Given the description of an element on the screen output the (x, y) to click on. 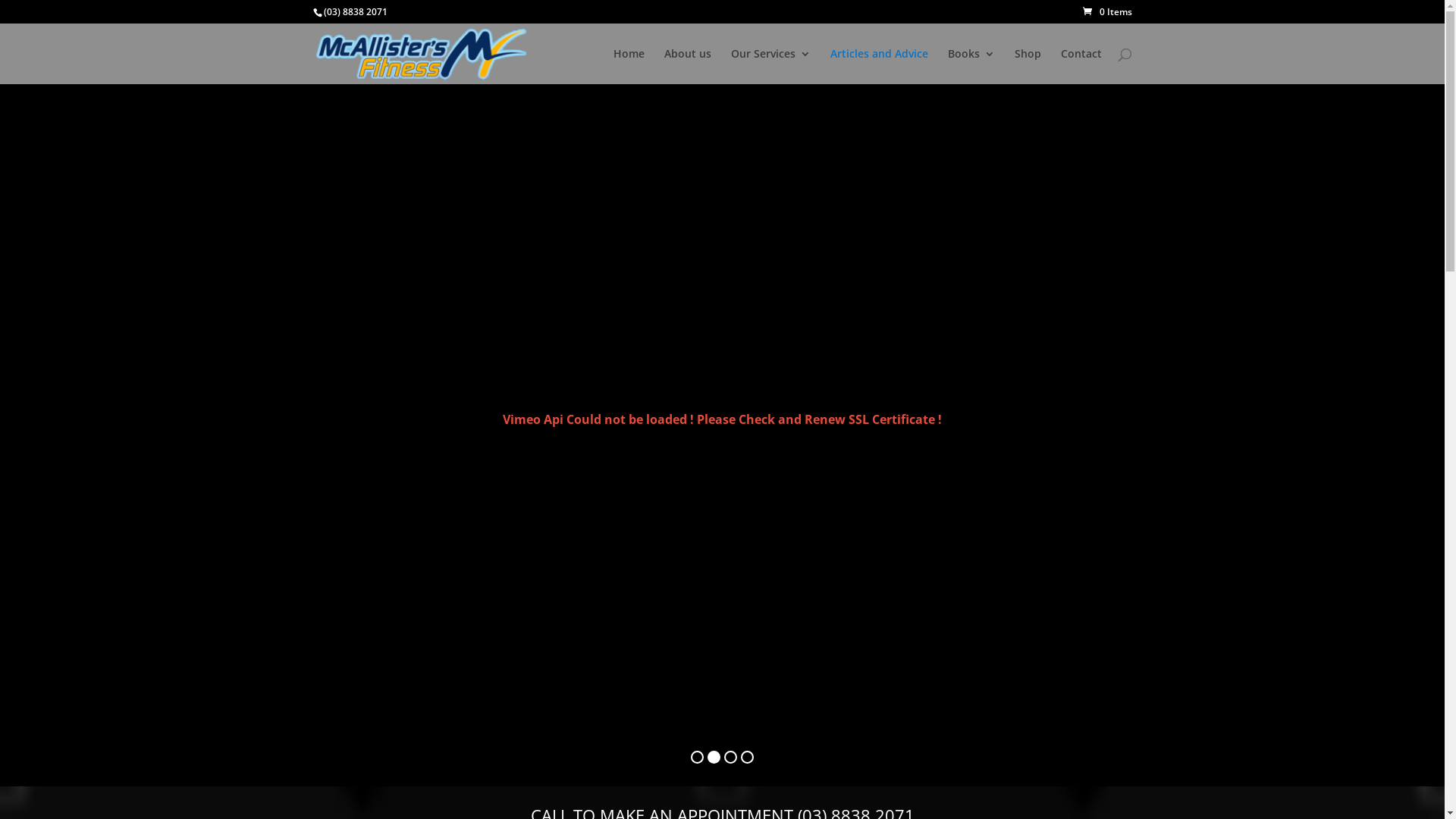
Home Element type: text (627, 66)
About us Element type: text (687, 66)
Shop Element type: text (1027, 66)
Our Services Element type: text (770, 66)
Articles and Advice Element type: text (878, 66)
Contact Element type: text (1080, 66)
Books Element type: text (970, 66)
0 Items Element type: text (1107, 11)
